Given the description of an element on the screen output the (x, y) to click on. 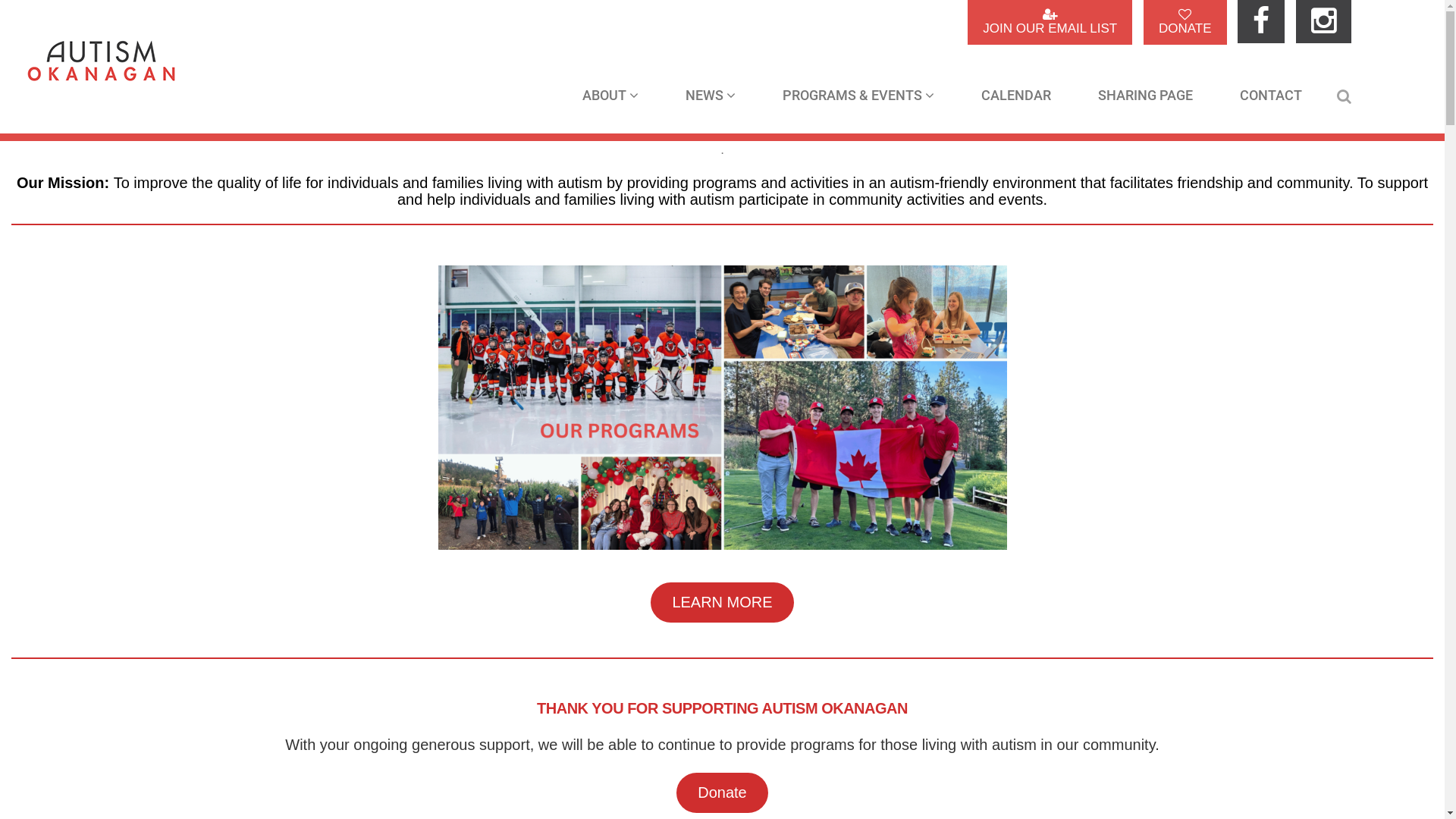
Donate Element type: text (722, 792)
CALENDAR Element type: text (1015, 92)
SHARING PAGE Element type: text (1145, 92)
PROGRAMS & EVENTS Element type: text (858, 92)
DONATE Element type: text (1184, 22)
CONTACT Element type: text (1270, 92)
ABOUT Element type: text (610, 92)
LEARN MORE Element type: text (722, 602)
NEWS Element type: text (710, 92)
JOIN OUR EMAIL LIST Element type: text (1049, 22)
